Given the description of an element on the screen output the (x, y) to click on. 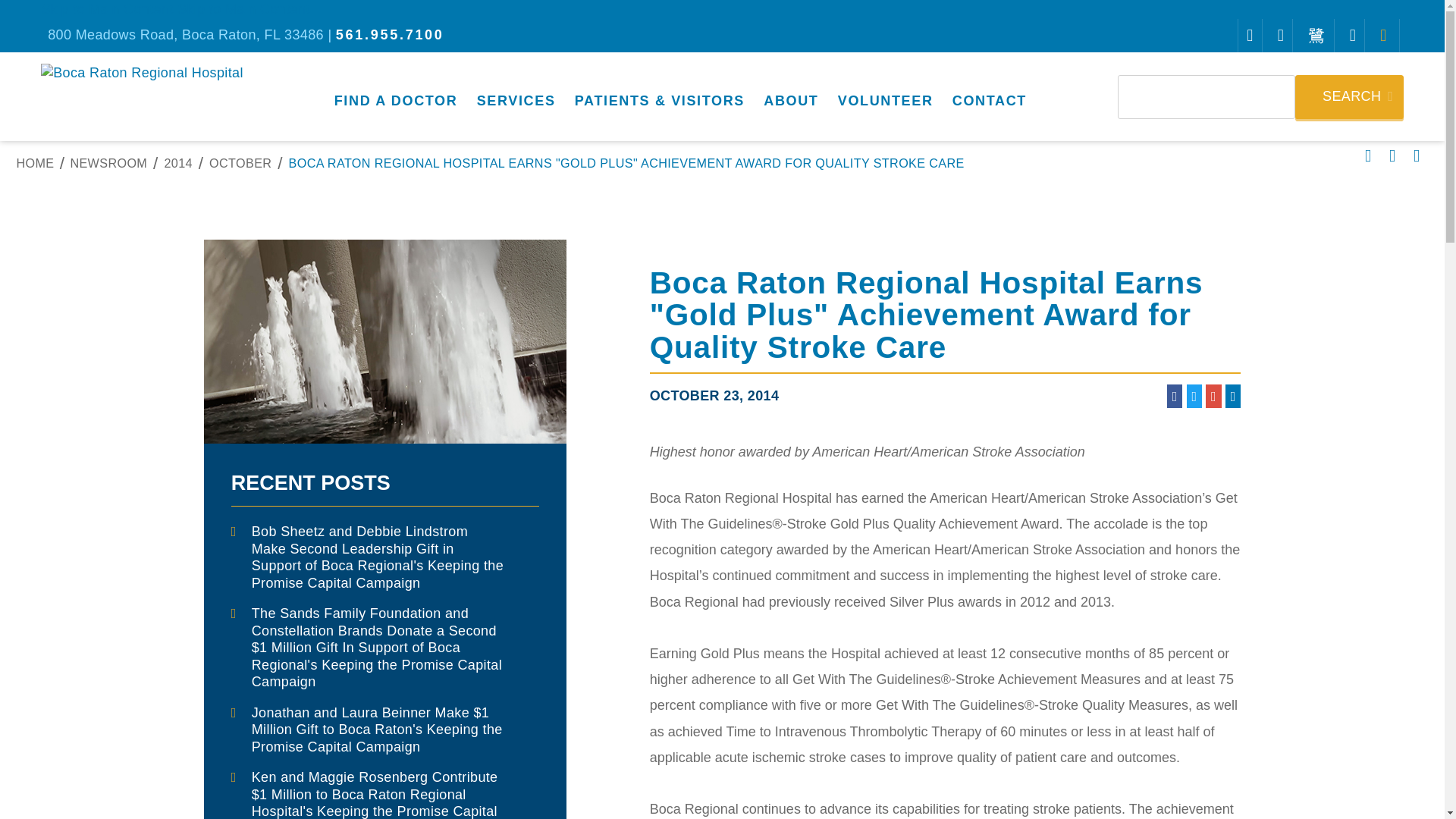
561.955.7100 (390, 34)
youtube-3 link (1316, 35)
Boca Raton Regional Hospital (141, 75)
VOLUNTEER (885, 96)
SERVICES (515, 96)
Skip to Main Content (243, 8)
Skip to Main Content (106, 8)
CONTACT (988, 96)
FIND A DOCTOR (395, 96)
